Given the description of an element on the screen output the (x, y) to click on. 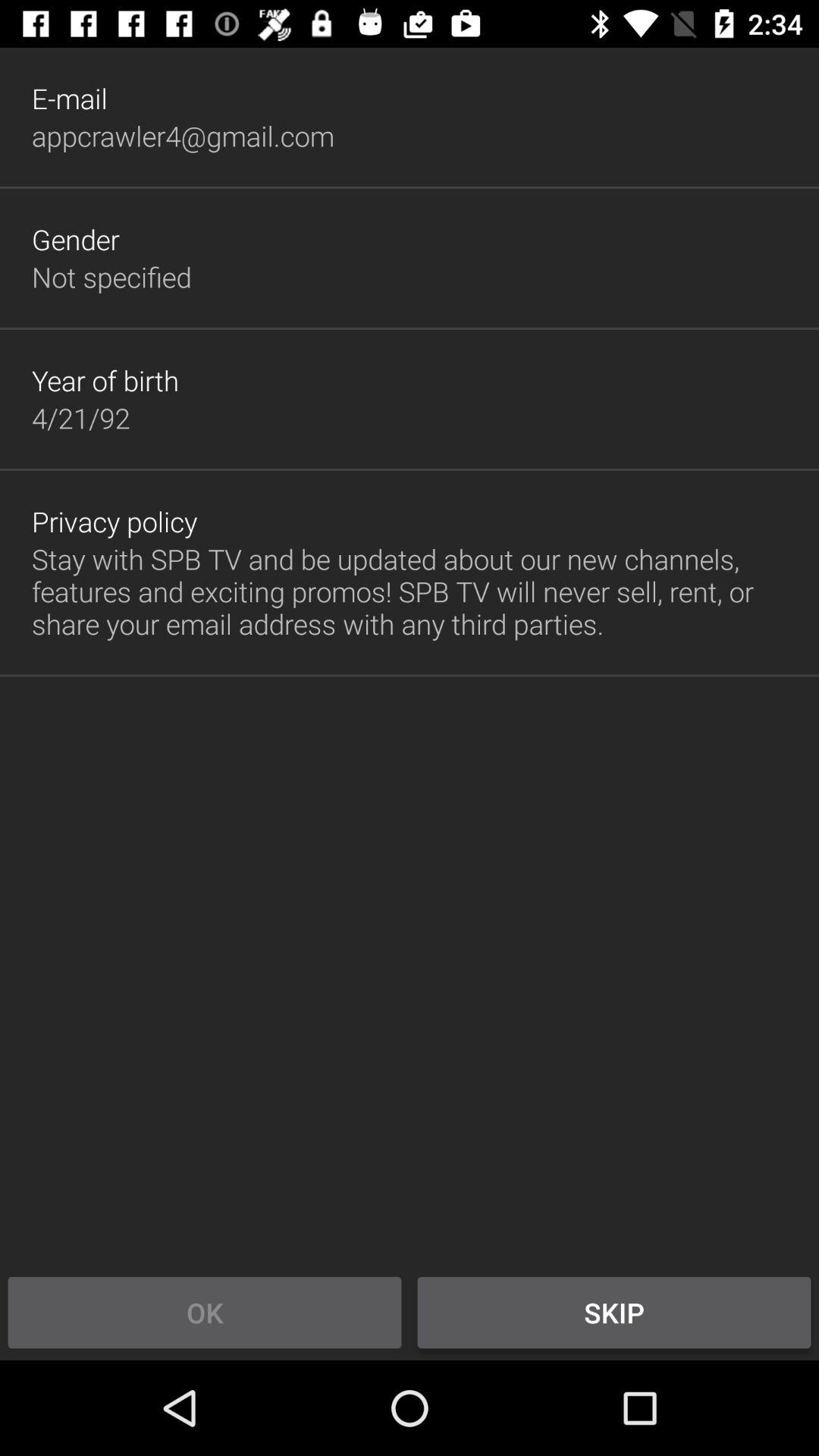
launch app above gender icon (182, 135)
